Given the description of an element on the screen output the (x, y) to click on. 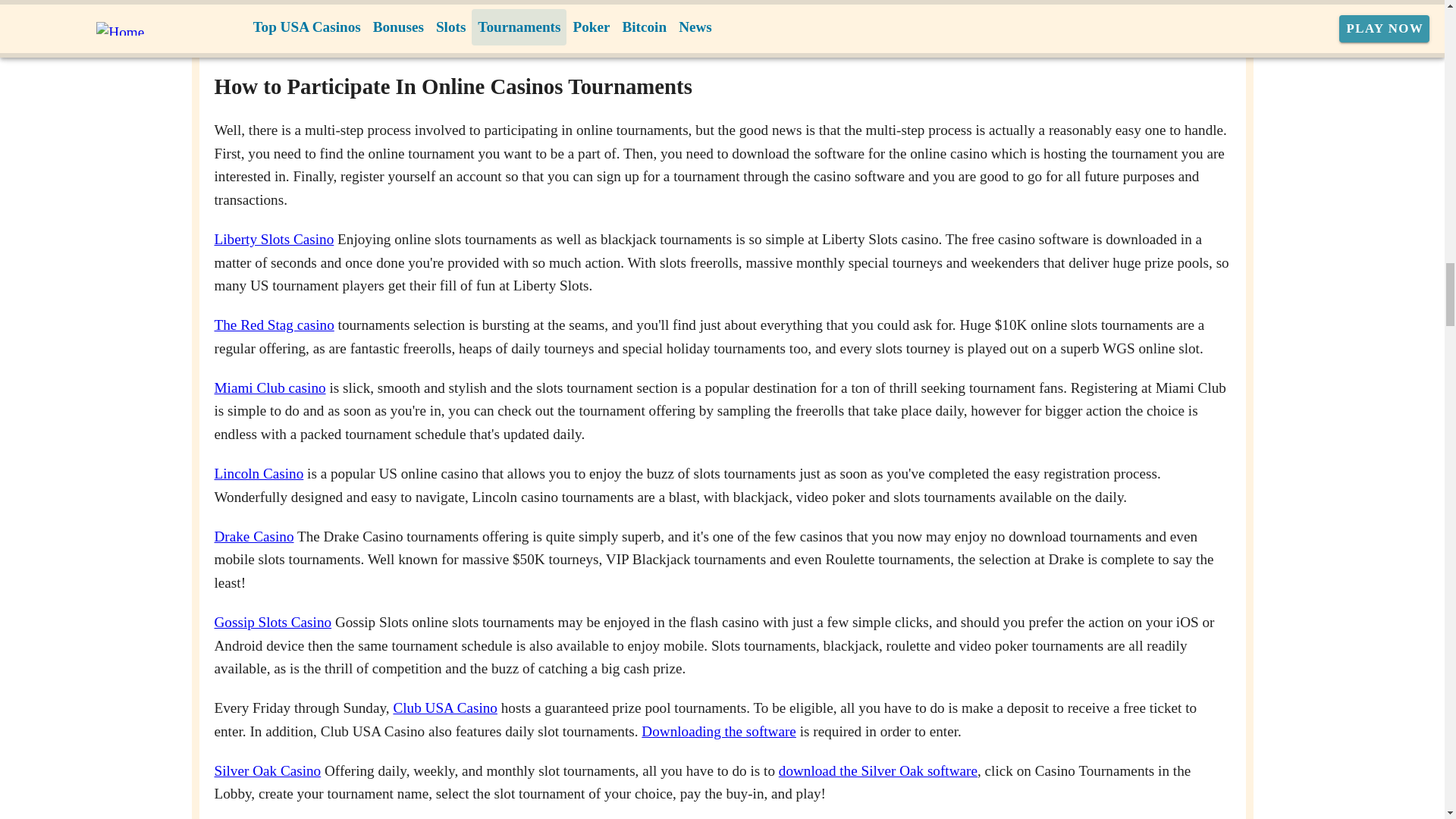
Win Palace Slots Casino (720, 29)
Liberty Slots Casino (273, 238)
The Red Stag casino (273, 324)
